Given the description of an element on the screen output the (x, y) to click on. 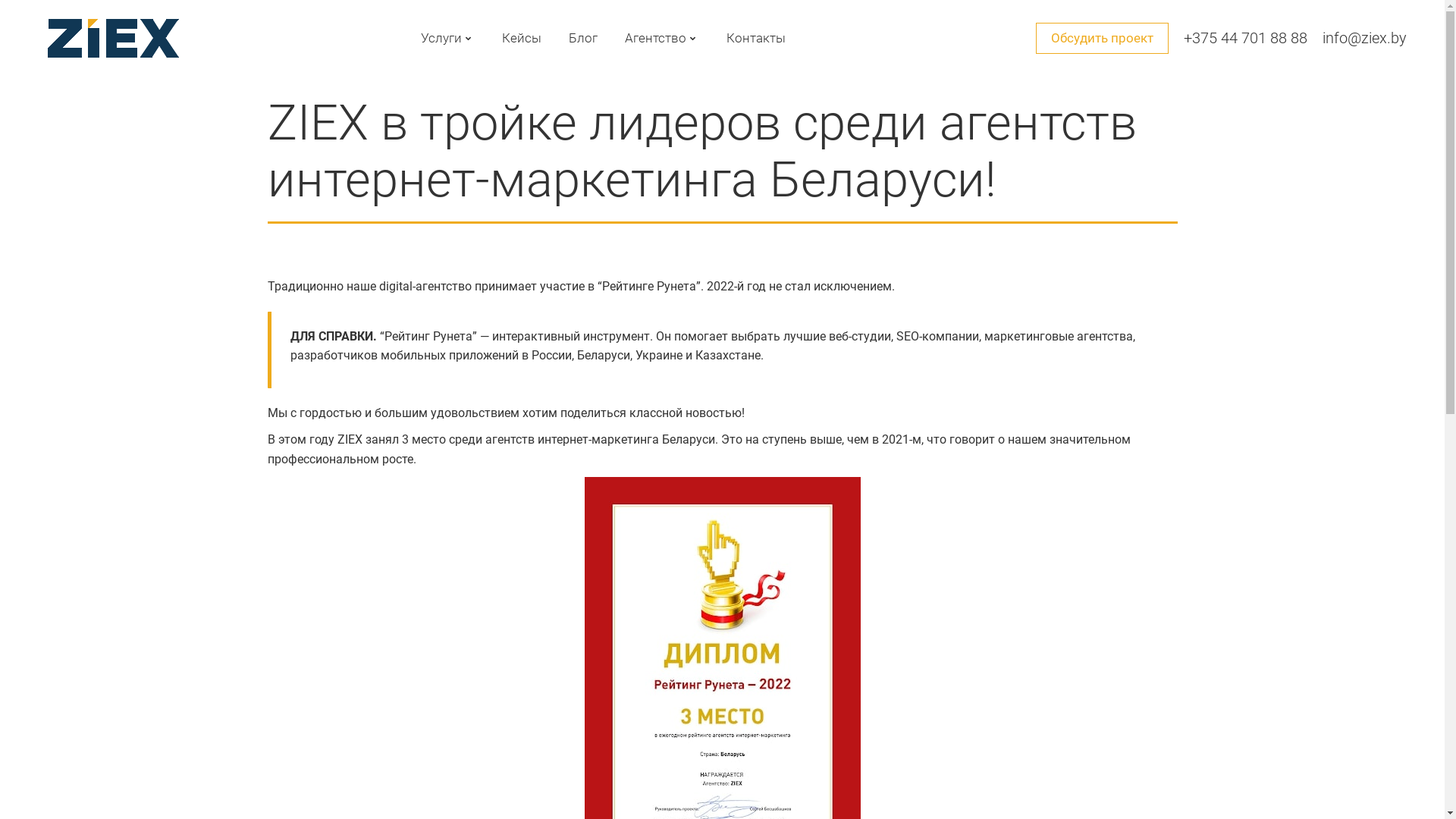
+375 44 701 88 88 Element type: text (1245, 37)
